Given the description of an element on the screen output the (x, y) to click on. 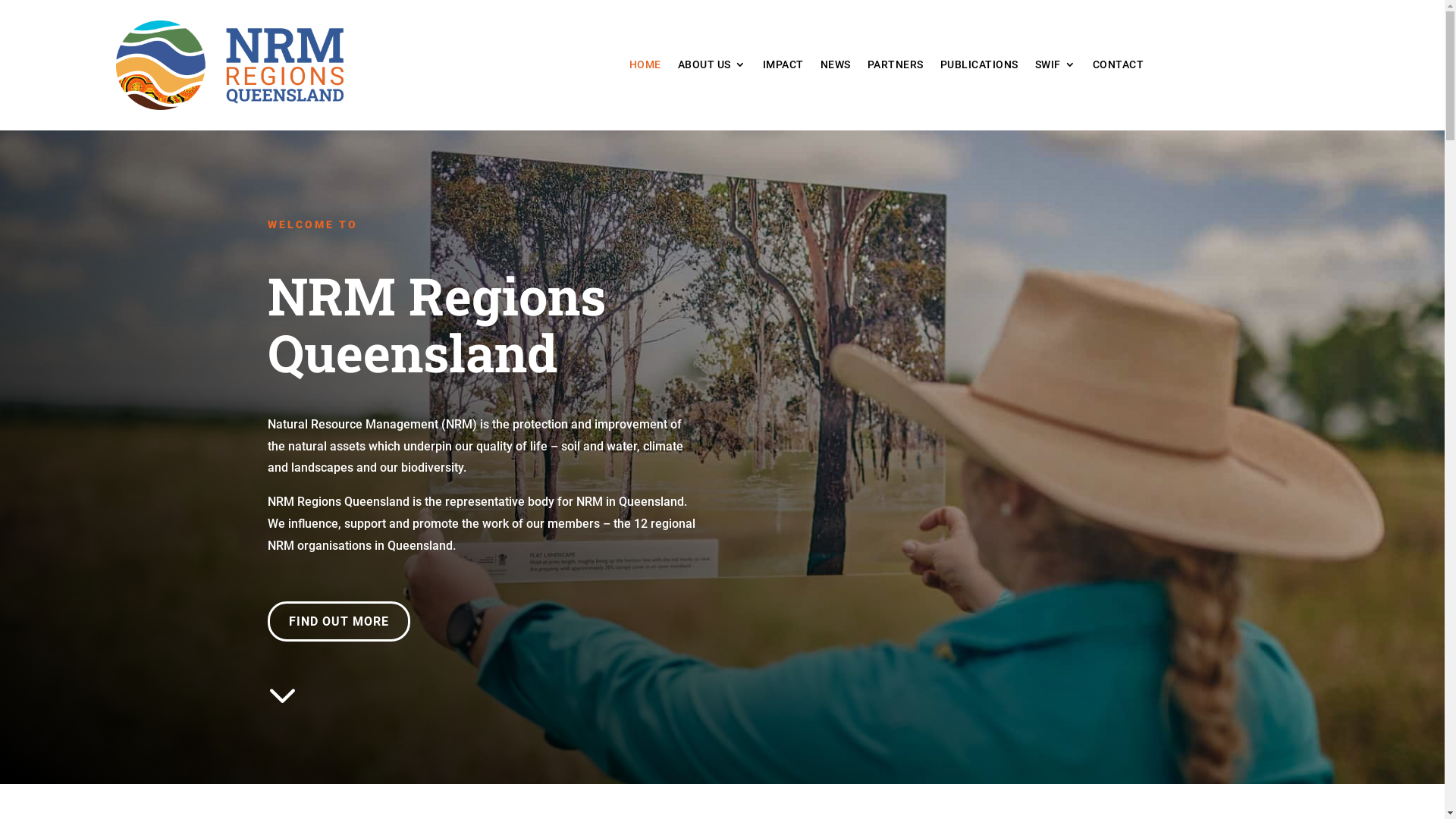
SWIF Element type: text (1055, 67)
FIND OUT MORE Element type: text (337, 621)
IMPACT Element type: text (782, 67)
ABOUT US Element type: text (711, 67)
PARTNERS Element type: text (895, 67)
CONTACT Element type: text (1118, 67)
NEWS Element type: text (835, 67)
PUBLICATIONS Element type: text (979, 67)
HOME Element type: text (645, 67)
NRMRQ-LOGO-Horiz-Pattern Element type: hover (228, 64)
